Given the description of an element on the screen output the (x, y) to click on. 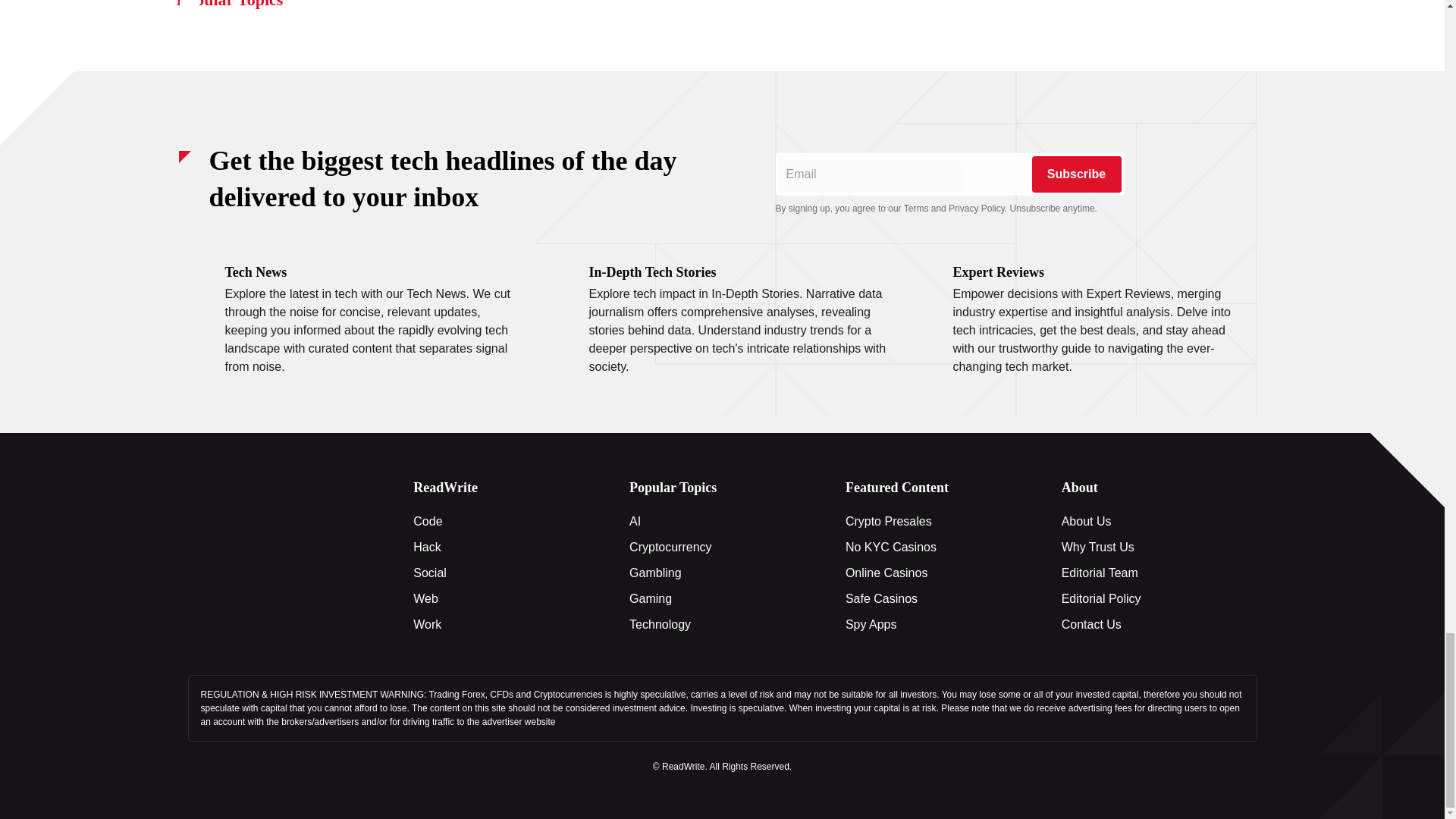
Subscribe (1075, 174)
